Given the description of an element on the screen output the (x, y) to click on. 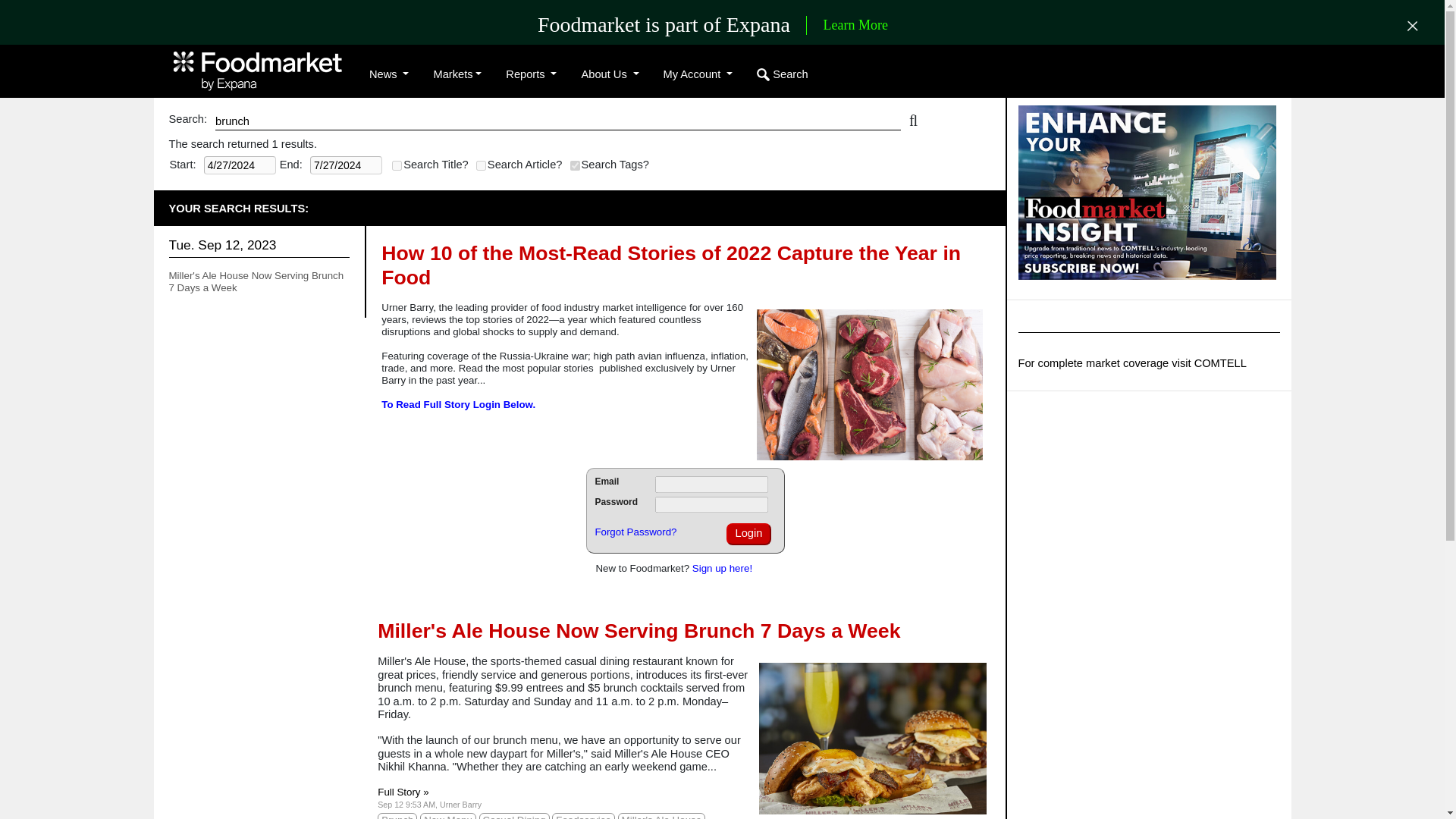
on (574, 165)
Markets (456, 74)
? (10, 11)
Login (748, 534)
News (388, 74)
Login (748, 534)
on (481, 165)
Forgot Password? (635, 531)
Reports (531, 74)
About Us (609, 74)
Miller's Ale House Now Serving Brunch 7 Days a Week (255, 281)
on (396, 165)
Learn More (856, 25)
My Account (697, 74)
